Given the description of an element on the screen output the (x, y) to click on. 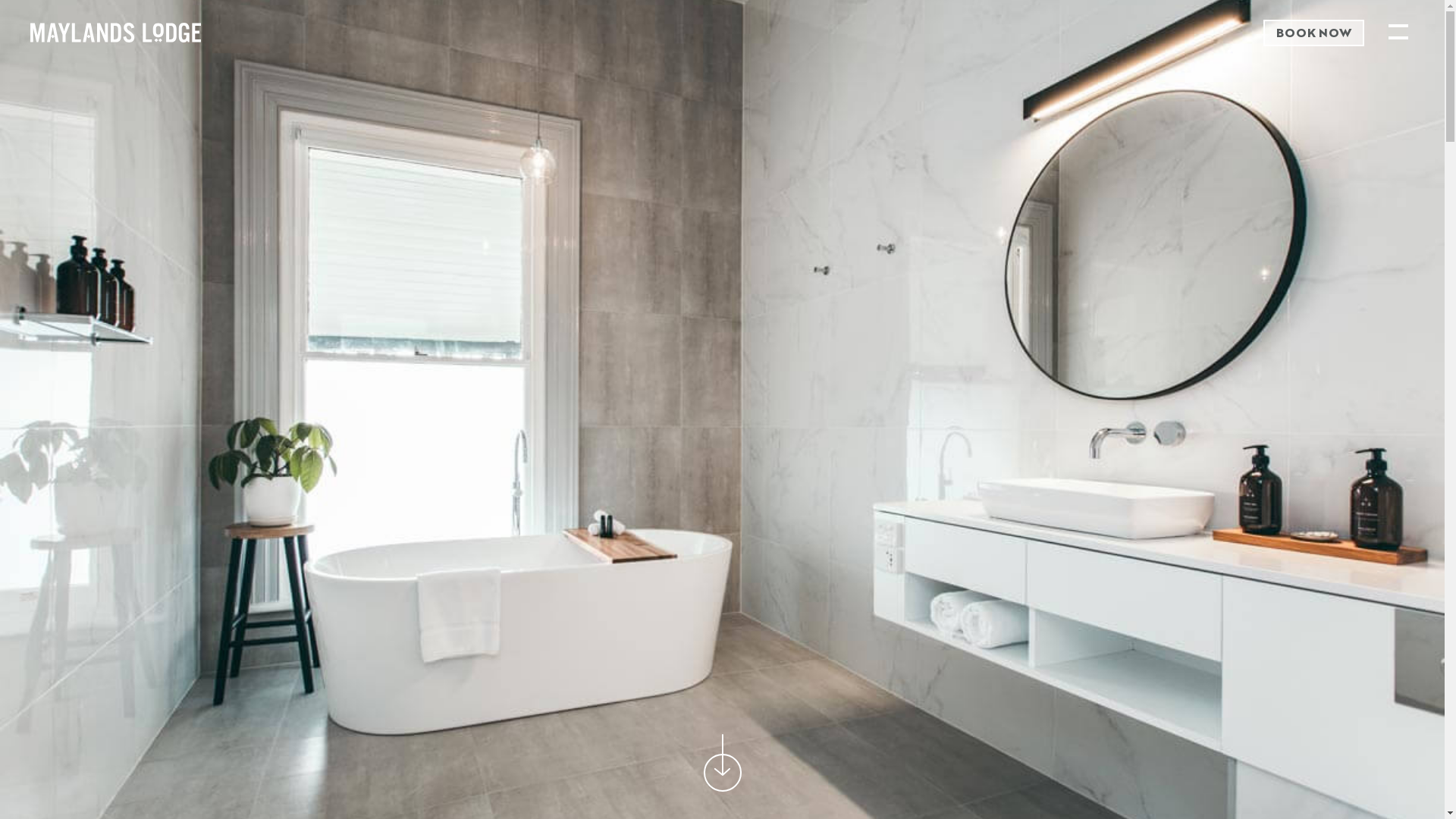
BOOK NOW Element type: text (1313, 32)
